Given the description of an element on the screen output the (x, y) to click on. 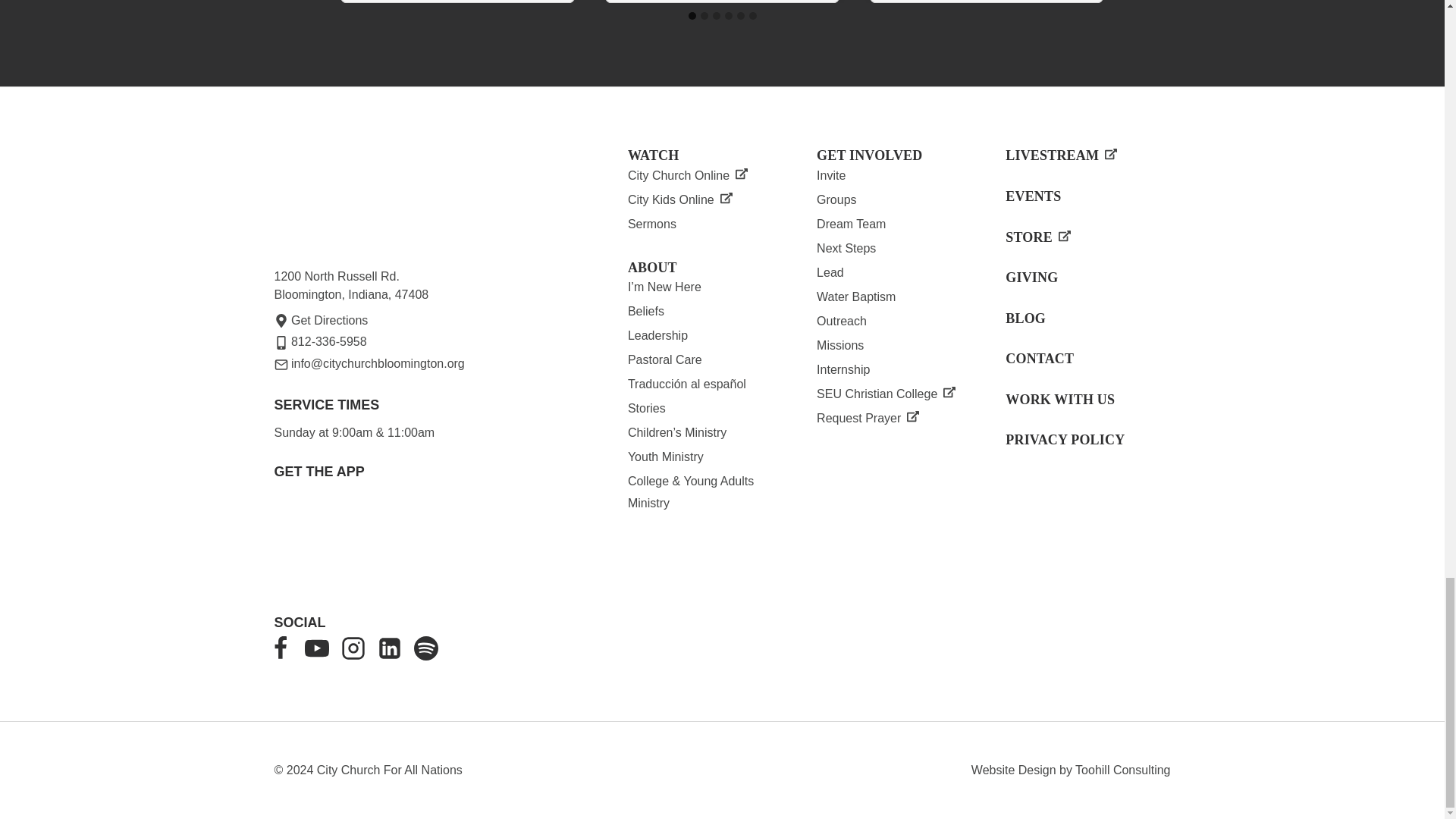
Download on the App Store (422, 536)
Get Directions to City Church (321, 319)
Toohill Consulting (1122, 769)
Download on the App Store (320, 542)
